Given the description of an element on the screen output the (x, y) to click on. 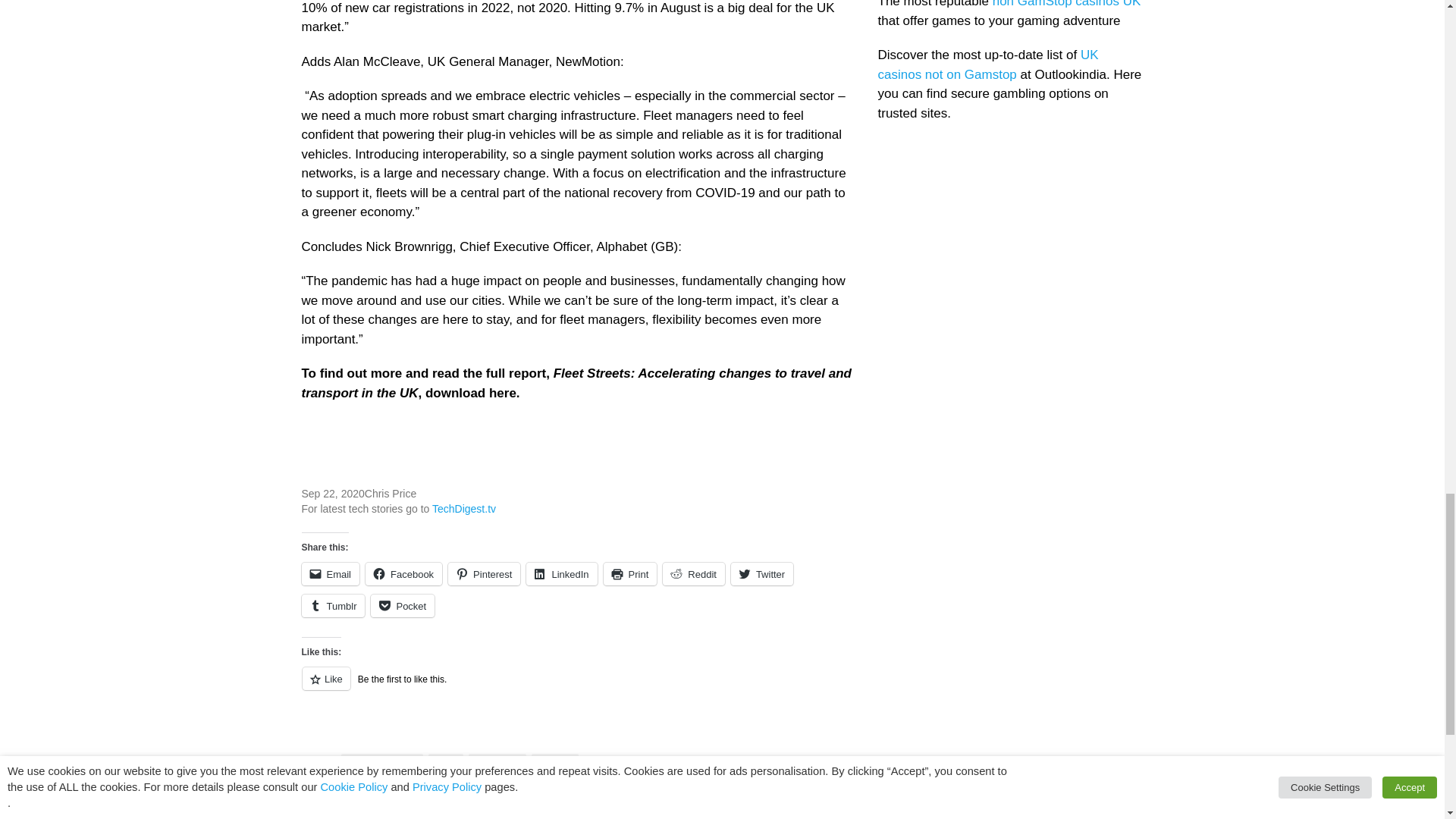
Click to print (631, 573)
Click to share on Pinterest (483, 573)
Click to share on Twitter (761, 573)
Click to share on LinkedIn (560, 573)
Click to share on Reddit (693, 573)
Click to email a link to a friend (330, 573)
Click to share on Facebook (403, 573)
